Given the description of an element on the screen output the (x, y) to click on. 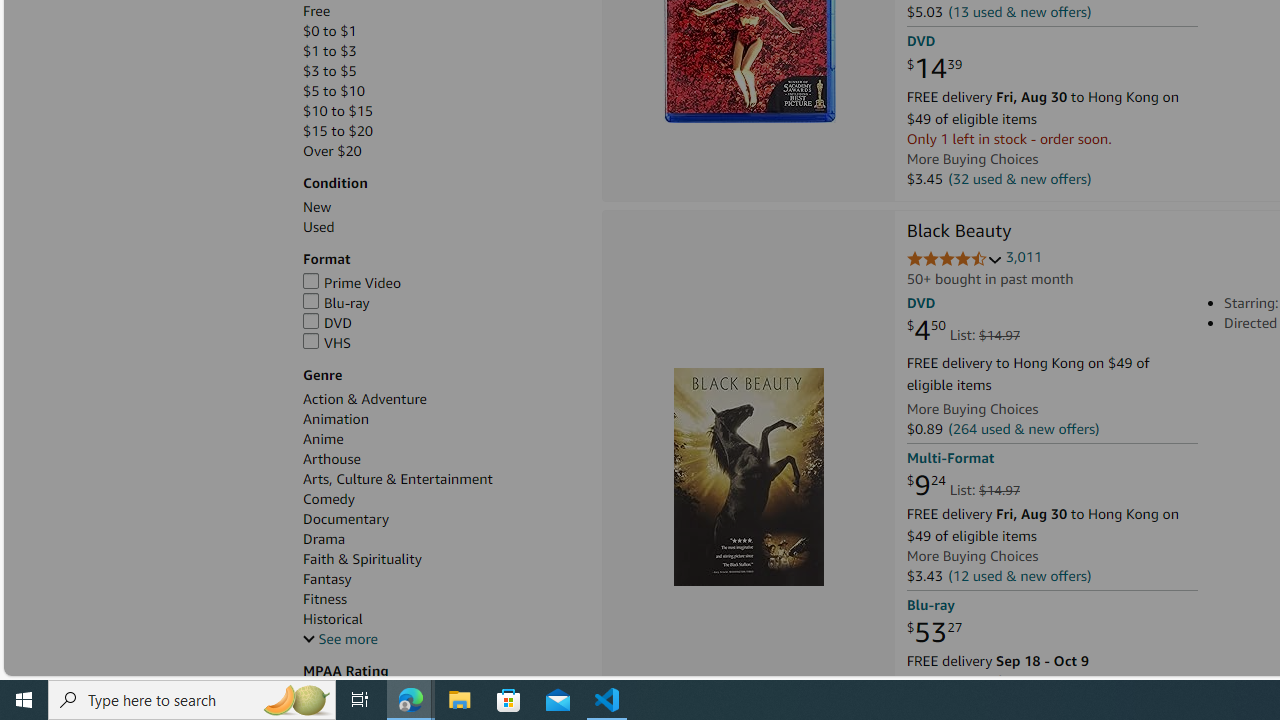
$5 to $10 (442, 91)
Historical (442, 619)
Anime (323, 439)
$1 to $3 (442, 51)
$5 to $10 (333, 91)
Documentary (442, 519)
Faith & Spirituality (442, 559)
Used (319, 227)
Action & Adventure (442, 399)
Comedy (328, 499)
